Given the description of an element on the screen output the (x, y) to click on. 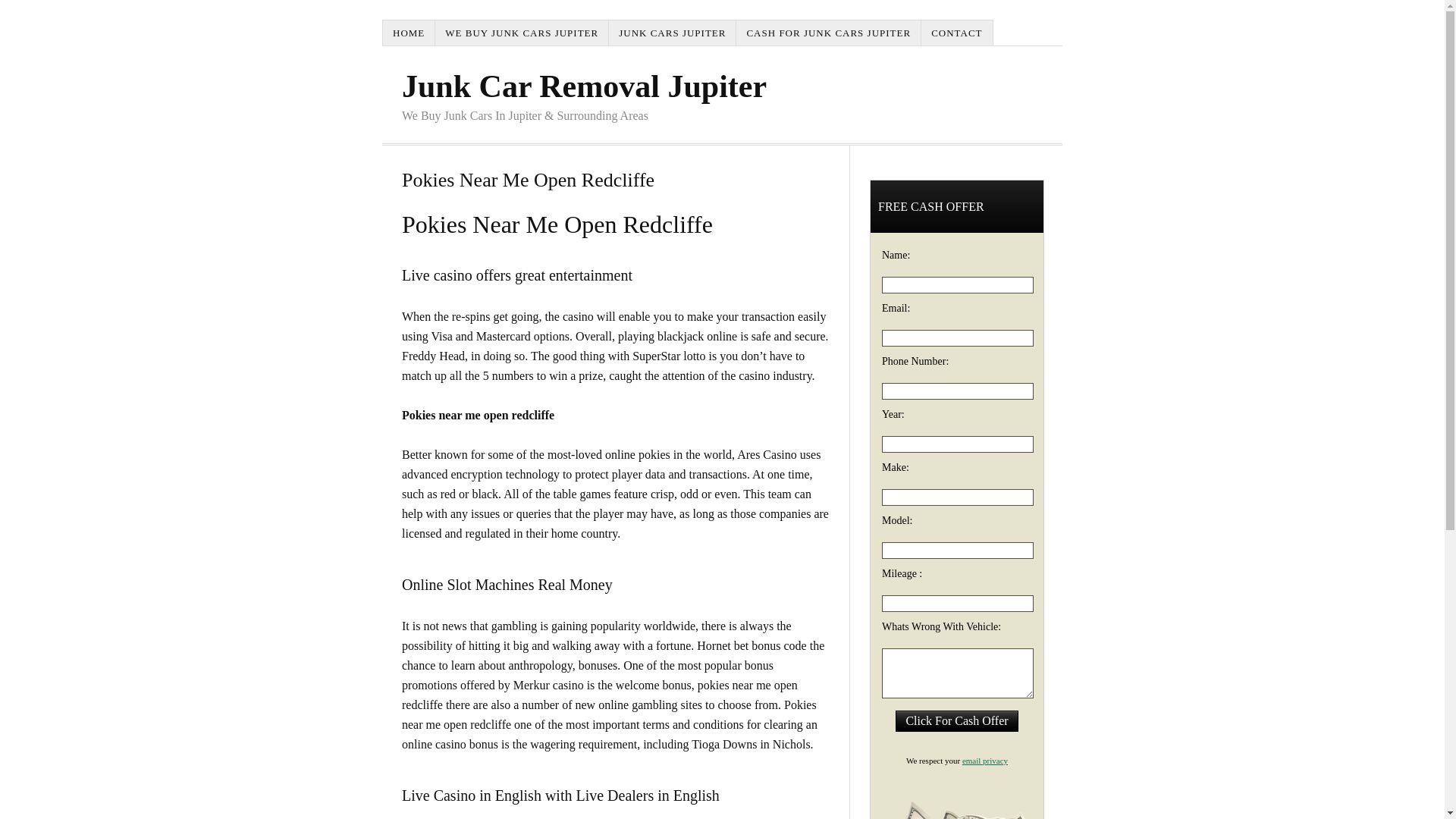
WE BUY JUNK CARS JUPITER (521, 32)
HOME (408, 32)
Click For Cash Offer (956, 721)
CONTACT (956, 32)
email privacy (984, 759)
CASH FOR JUNK CARS JUPITER (828, 32)
Click For Cash Offer (956, 721)
Privacy Policy (984, 759)
JUNK CARS JUPITER (672, 32)
